Given the description of an element on the screen output the (x, y) to click on. 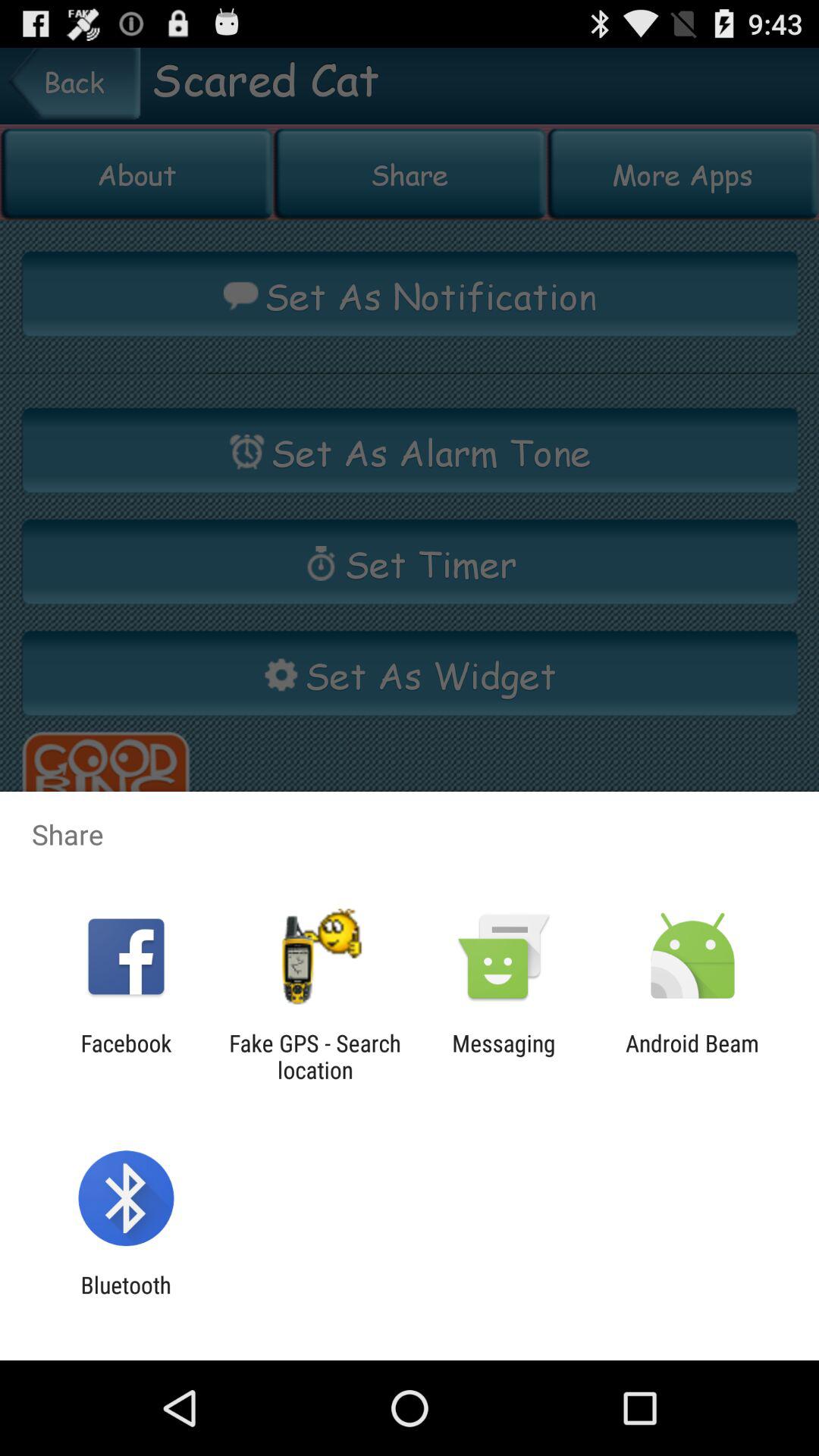
launch the icon to the right of messaging item (692, 1056)
